Given the description of an element on the screen output the (x, y) to click on. 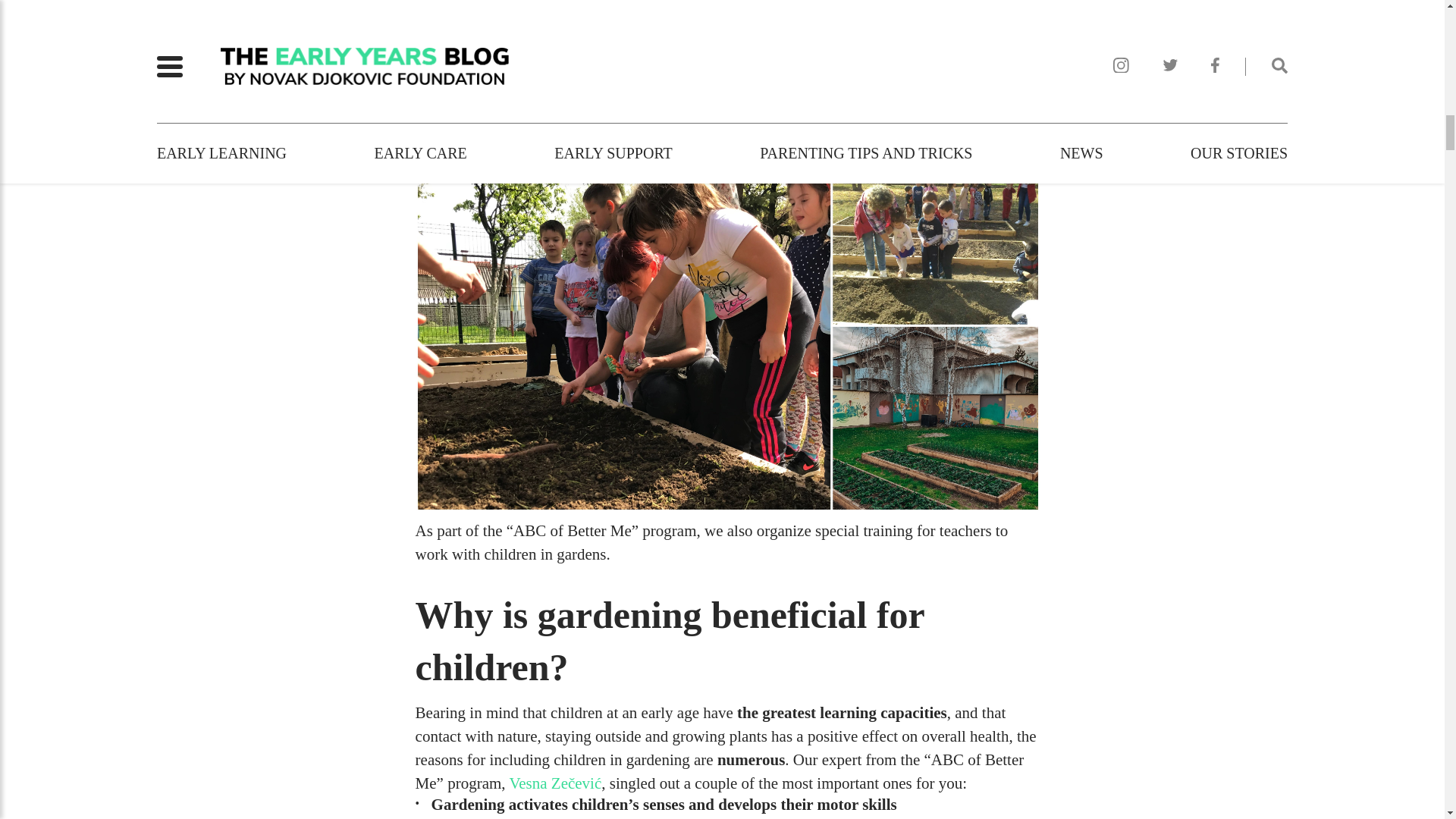
via this link (453, 118)
